Given the description of an element on the screen output the (x, y) to click on. 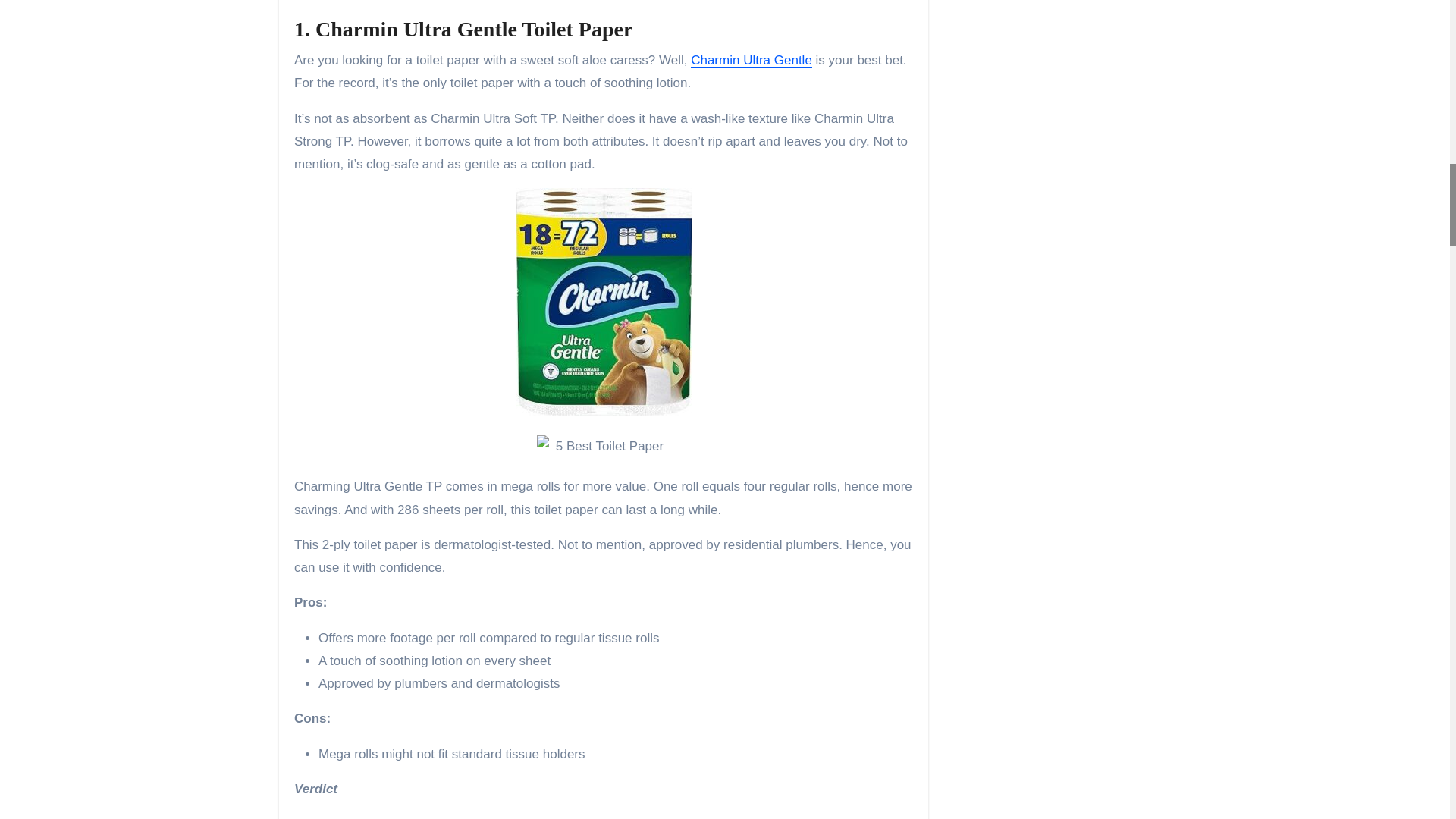
Charmin Ultra Gentle (751, 60)
